Given the description of an element on the screen output the (x, y) to click on. 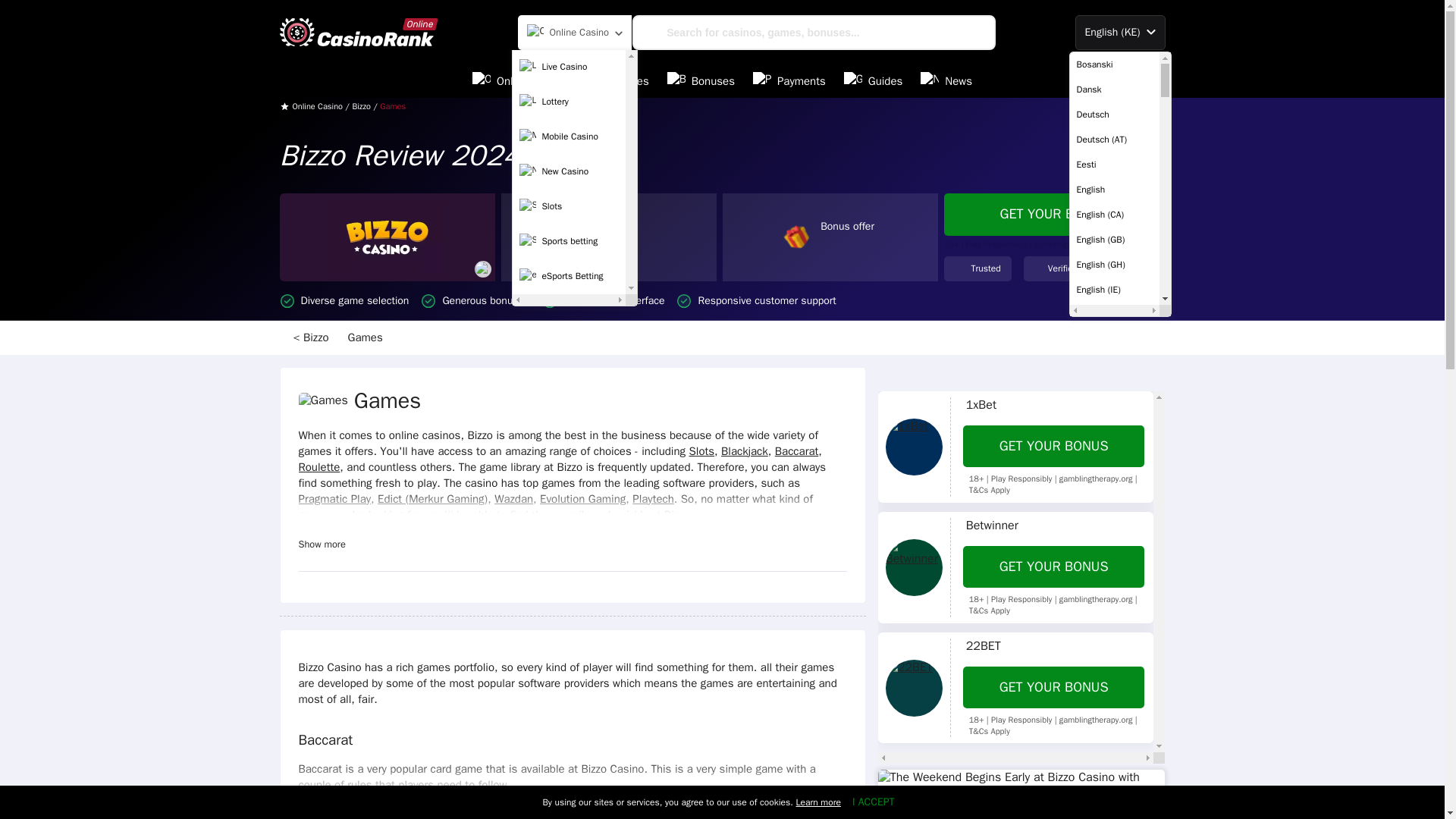
Bosanski (1113, 63)
New Casino (569, 172)
Dansk (1113, 89)
Deutsch (1113, 113)
eSports Betting (569, 276)
Sports betting (569, 241)
Games (367, 337)
Live Casino (569, 67)
Mobile Casino (569, 136)
Hrvatski (1113, 810)
Lottery (569, 102)
Slots (569, 206)
Eesti (1113, 163)
English (1113, 189)
